Given the description of an element on the screen output the (x, y) to click on. 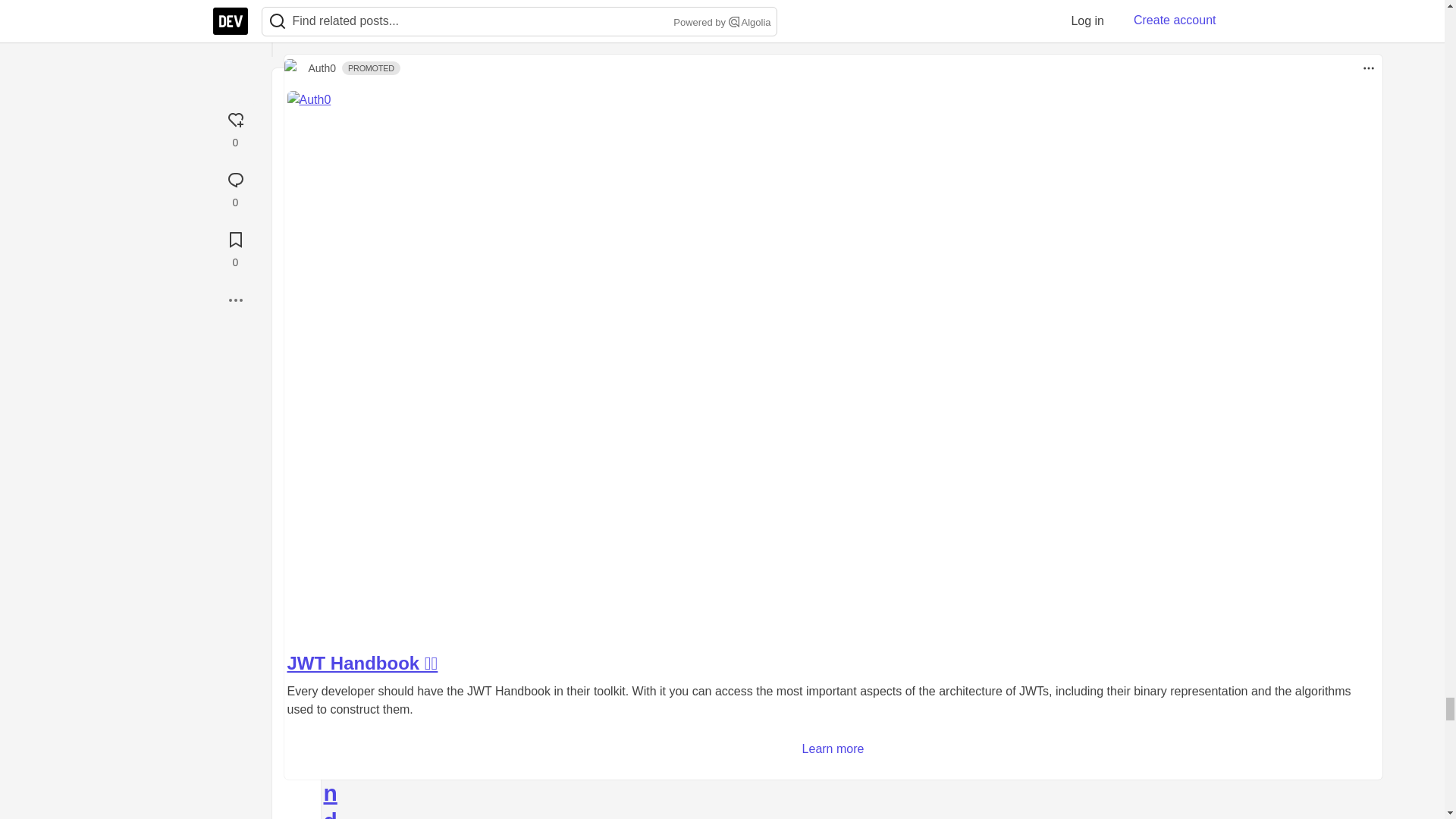
Dropdown menu (432, 84)
